Given the description of an element on the screen output the (x, y) to click on. 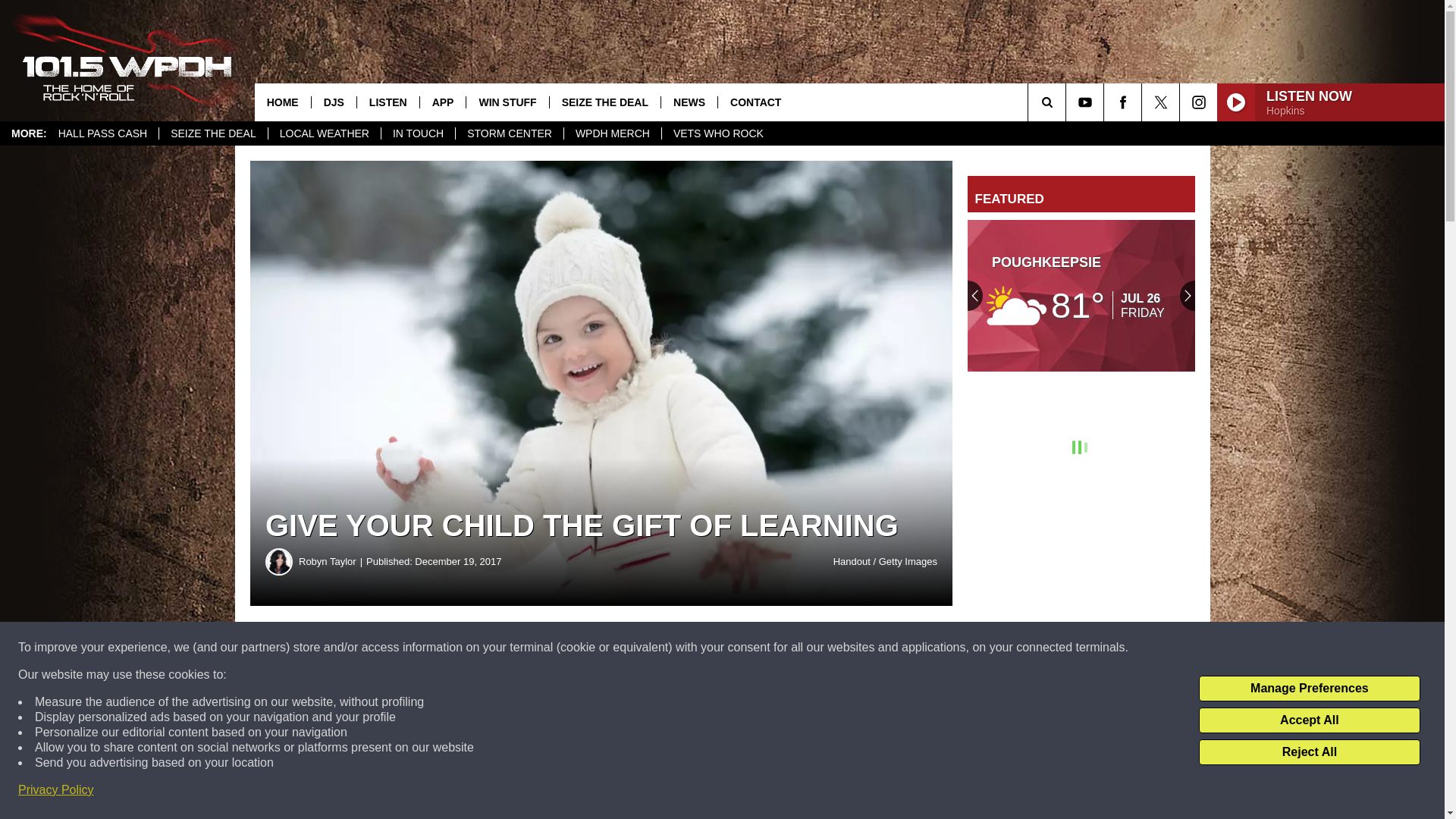
HALL PASS CASH (102, 133)
Manage Preferences (1309, 688)
DJS (333, 102)
Share on Facebook (460, 647)
NEWS (689, 102)
APP (442, 102)
SEIZE THE DEAL (212, 133)
LISTEN (387, 102)
Accept All (1309, 720)
Poughkeepsie Weather (1081, 295)
SEARCH (1068, 102)
Privacy Policy (55, 789)
STORM CENTER (508, 133)
LOCAL WEATHER (323, 133)
SEARCH (1068, 102)
